Given the description of an element on the screen output the (x, y) to click on. 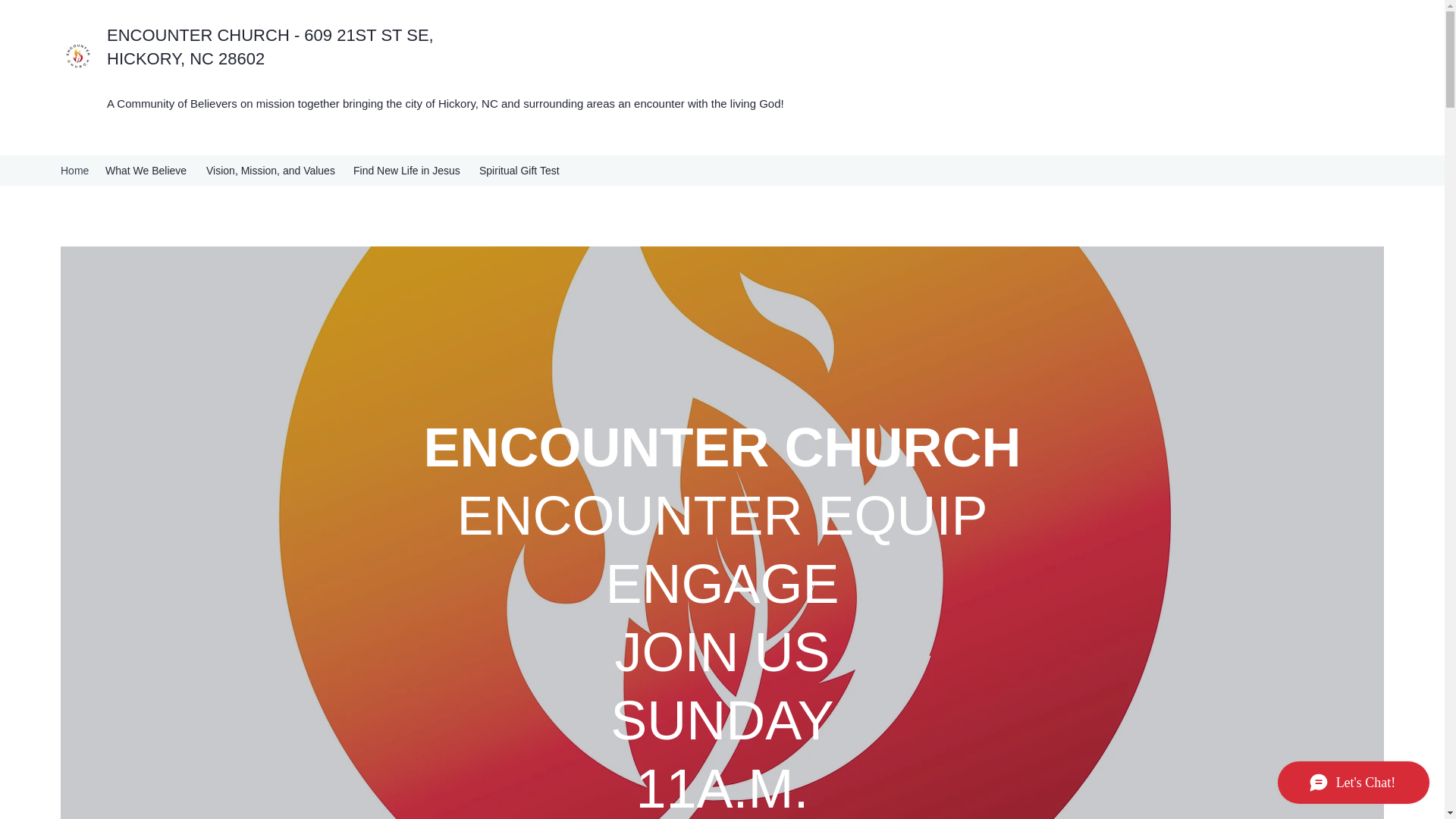
Find New Life in Jesus (408, 169)
ENCOUNTER CHURCH - 609 21ST ST SE, HICKORY, NC 28602 (269, 46)
Home (74, 169)
Vision, Mission, and Values (272, 169)
Spiritual Gift Test (521, 169)
What We Believe (147, 169)
